Given the description of an element on the screen output the (x, y) to click on. 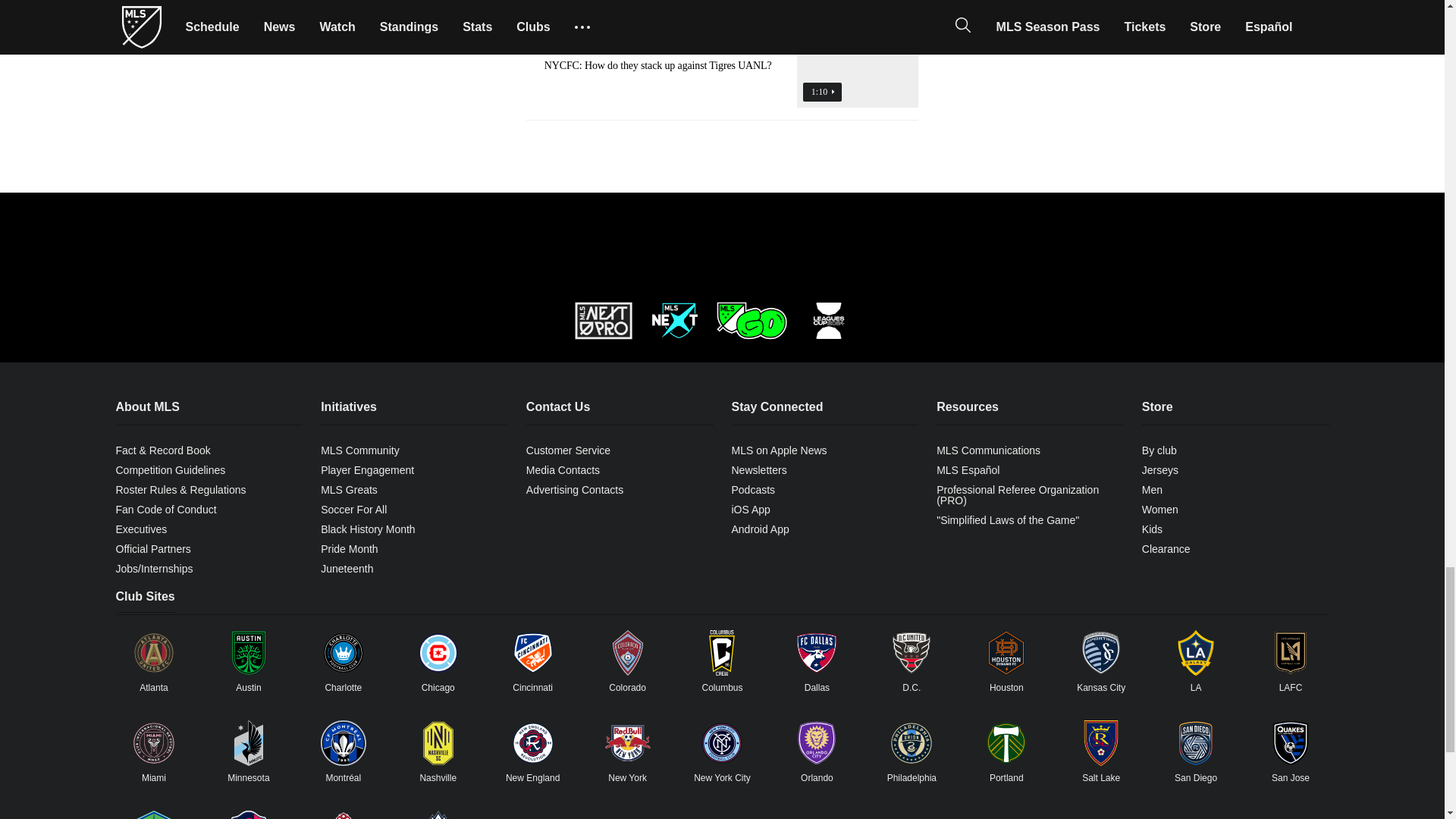
Link to Atlanta (153, 652)
Link to Charlotte (343, 652)
Link to Chicago (437, 652)
Link to Cincinnati (533, 652)
FC Cincinnati vs. Philadelphia Union: Who has the edge? (721, 13)
Link to Colorado (627, 652)
NYCFC: How do they stack up against Tigres UANL? (721, 79)
Link to Austin (247, 652)
